Given the description of an element on the screen output the (x, y) to click on. 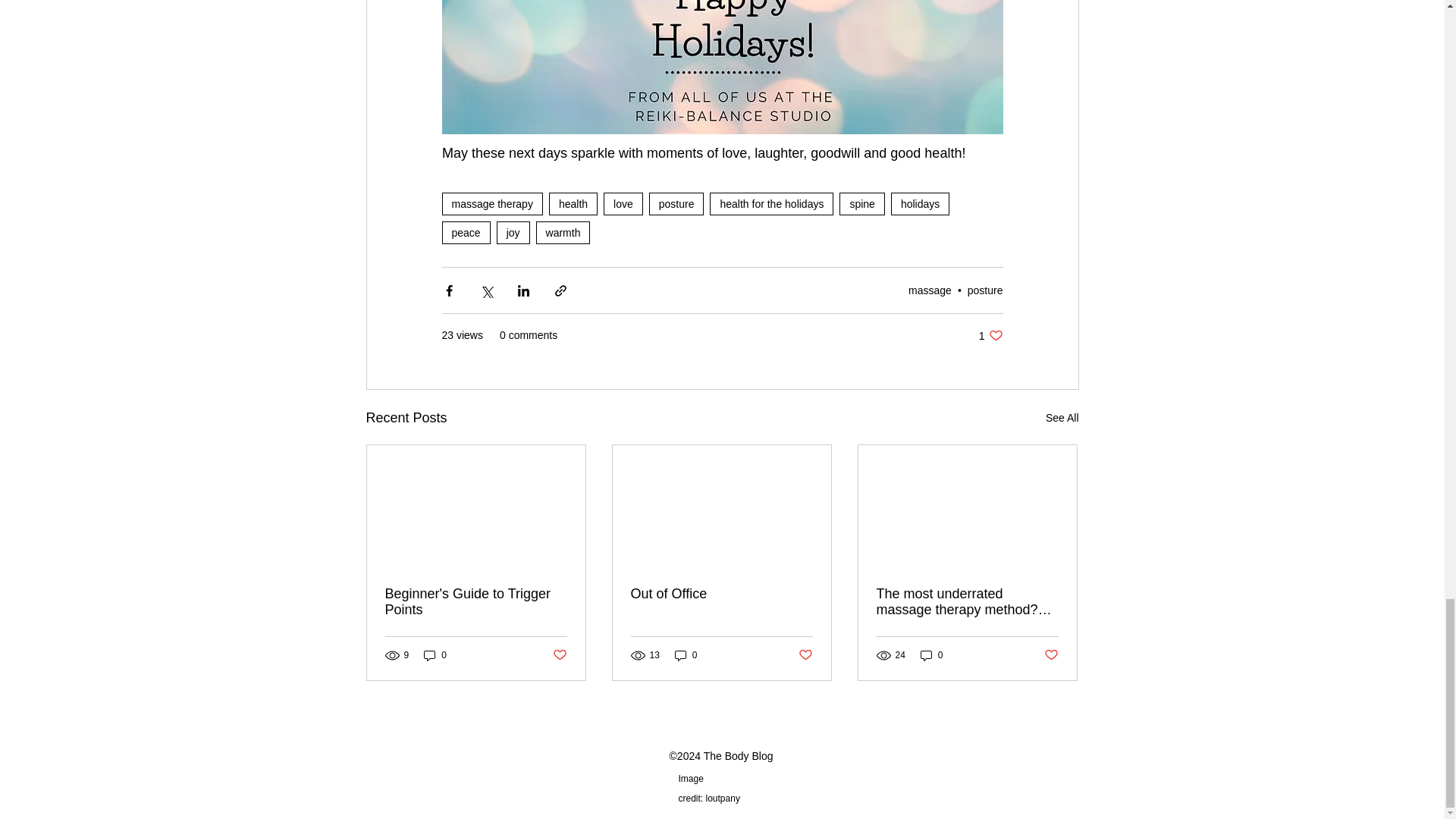
massage therapy (491, 203)
Post not marked as liked (558, 655)
spine (861, 203)
Beginner's Guide to Trigger Points (476, 602)
posture (985, 290)
health for the holidays (771, 203)
Out of Office (721, 593)
posture (676, 203)
warmth (563, 232)
joy (512, 232)
